Given the description of an element on the screen output the (x, y) to click on. 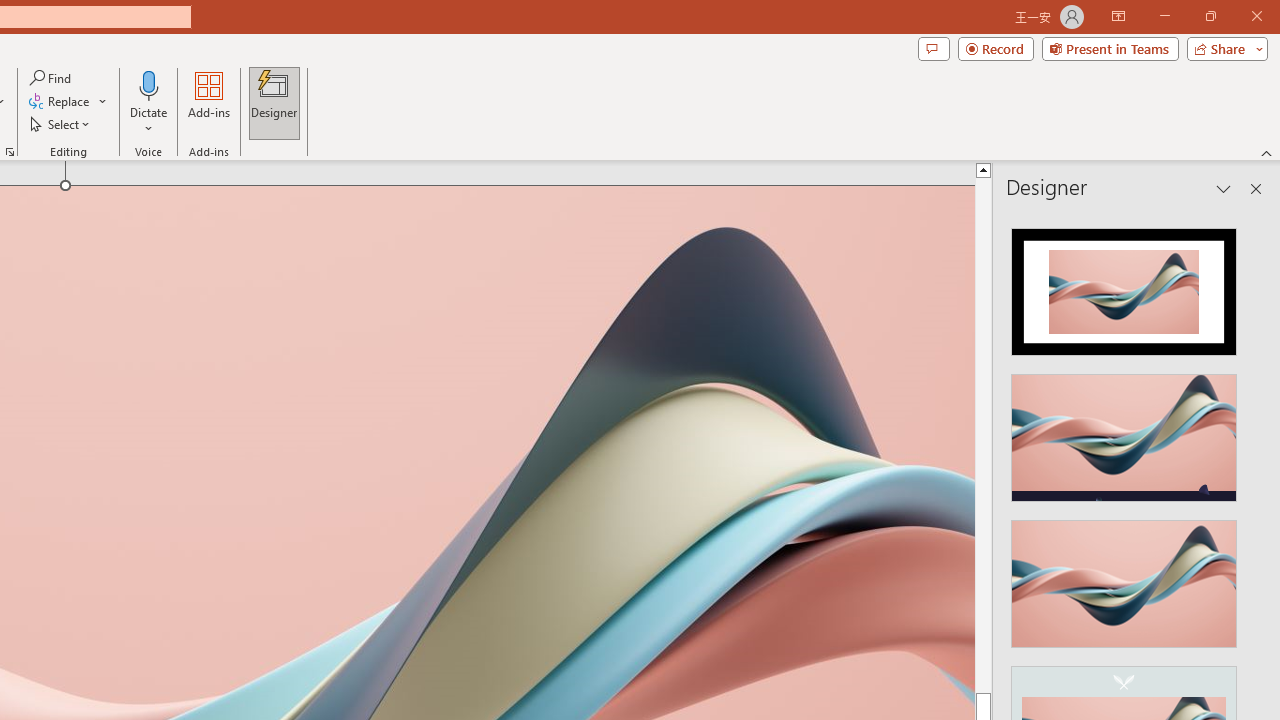
Replace (127, 648)
Context help (101, 562)
